Given the description of an element on the screen output the (x, y) to click on. 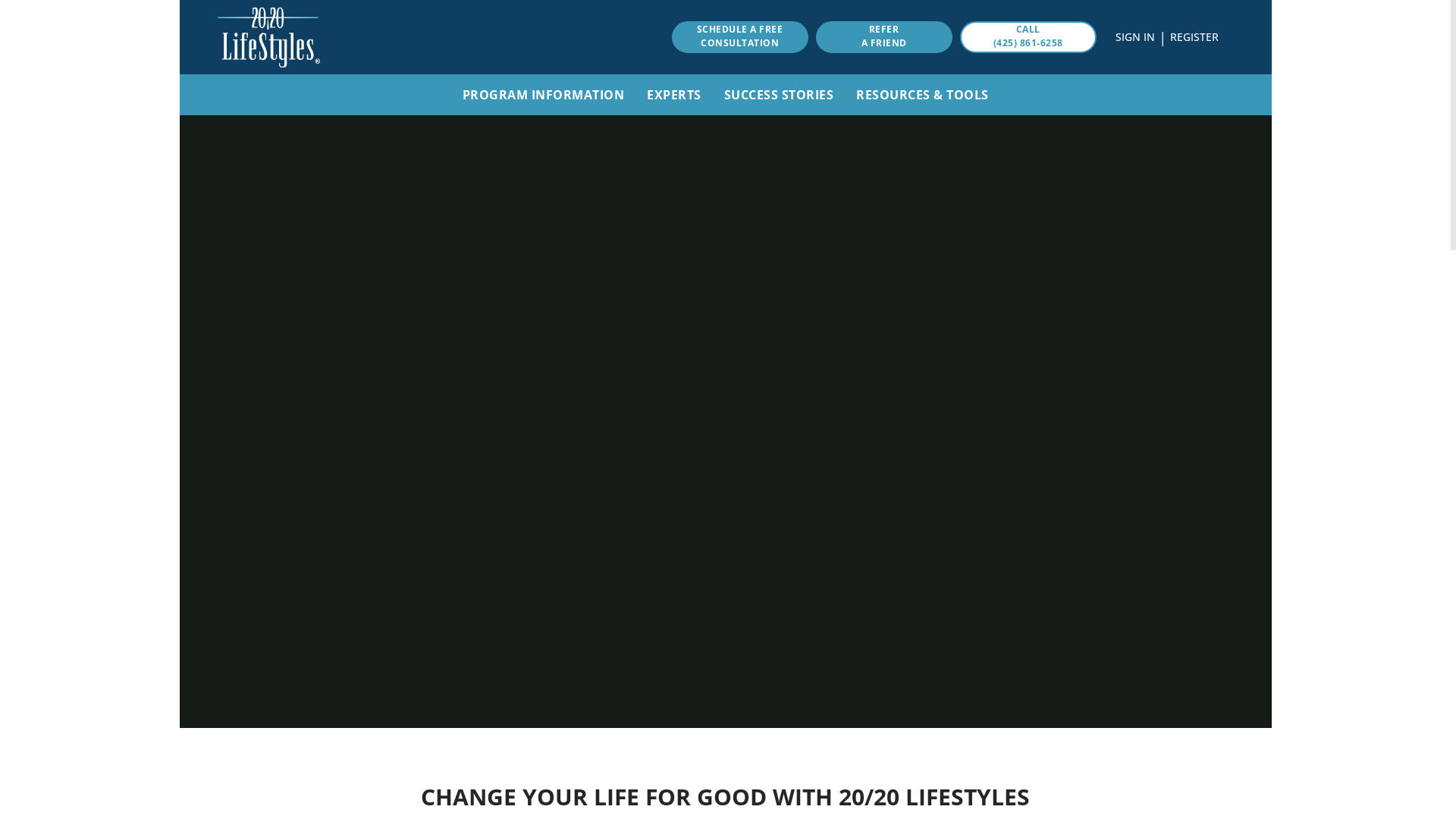
SUCCESS STORIES Element type: text (778, 94)
RESOURCES & TOOLS Element type: text (922, 94)
REFER
A FRIEND Element type: text (883, 37)
EXPERTS Element type: text (673, 94)
PROGRAM INFORMATION Element type: text (542, 94)
SIGN IN Element type: text (1134, 36)
REGISTER Element type: text (1193, 36)
SCHEDULE A FREE
CONSULTATION Element type: text (739, 37)
CALL
(425) 861-6258 Element type: text (1028, 37)
